Given the description of an element on the screen output the (x, y) to click on. 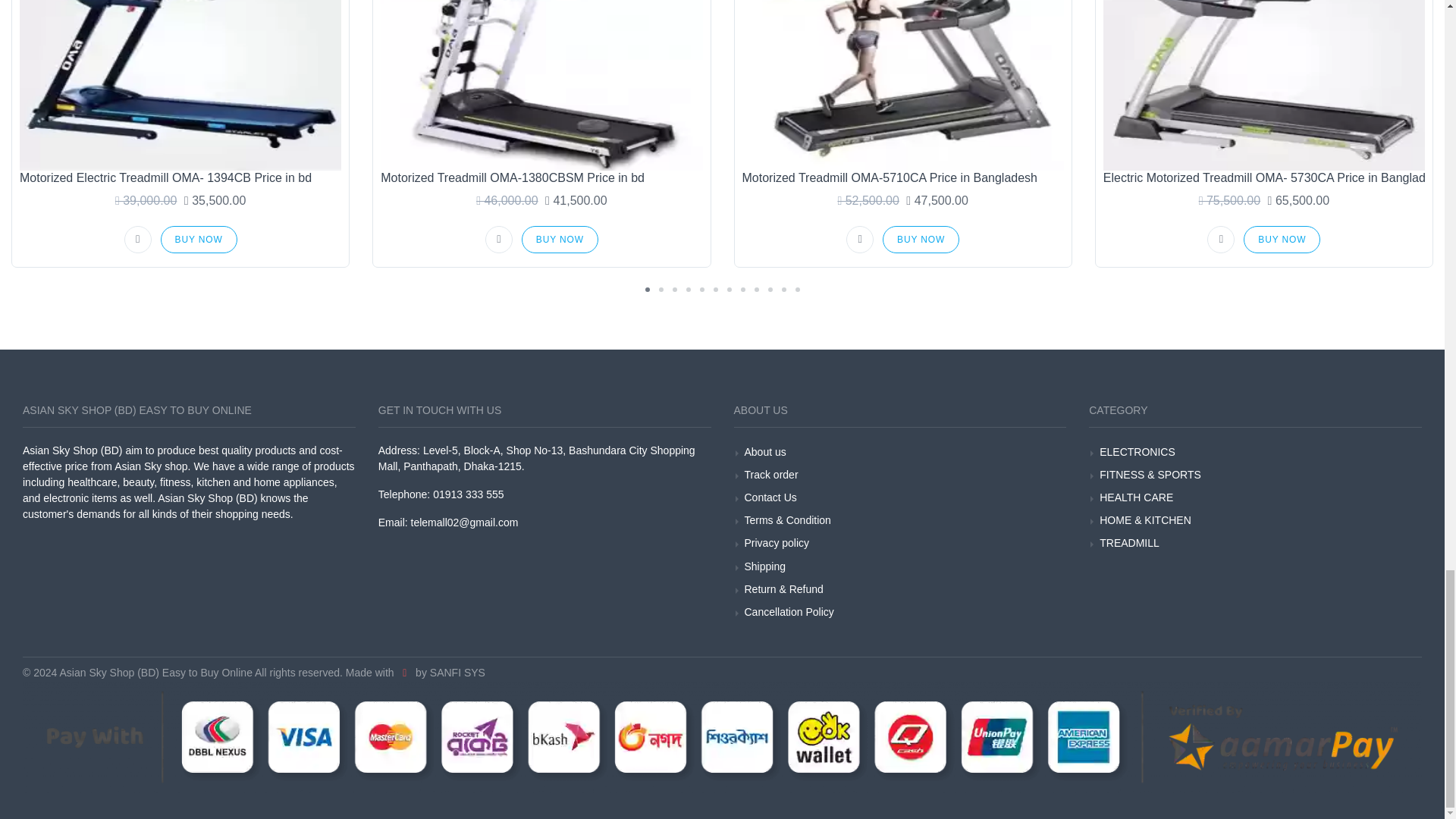
Motorized Electric Treadmill OMA- 1394CB (180, 85)
Electric Motorized Treadmill OMA- 5730CA (1264, 85)
Motorized Treadmill OMA-1380CBSM (540, 85)
Motorized Treadmill OMA-5710CA (901, 85)
